Given the description of an element on the screen output the (x, y) to click on. 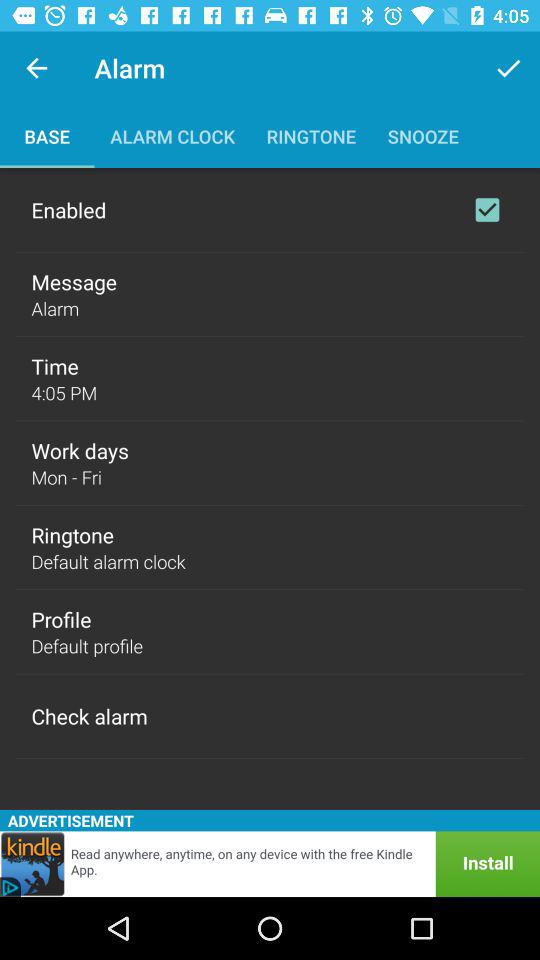
enable/disable alarm (487, 210)
